Given the description of an element on the screen output the (x, y) to click on. 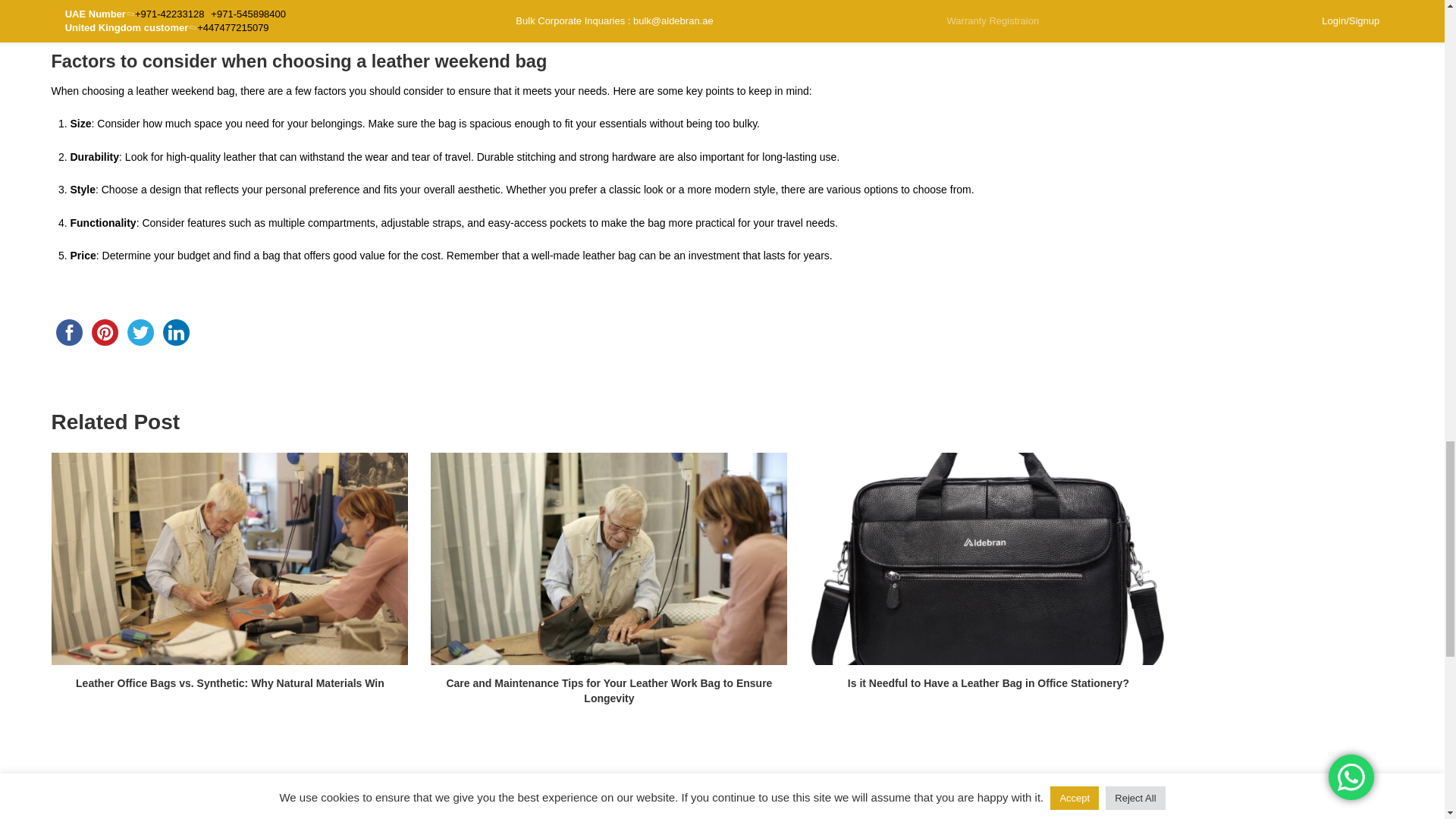
twitter (140, 332)
linkedin (175, 332)
pinterest (103, 332)
facebook (68, 332)
Subscribe (1280, 816)
